Given the description of an element on the screen output the (x, y) to click on. 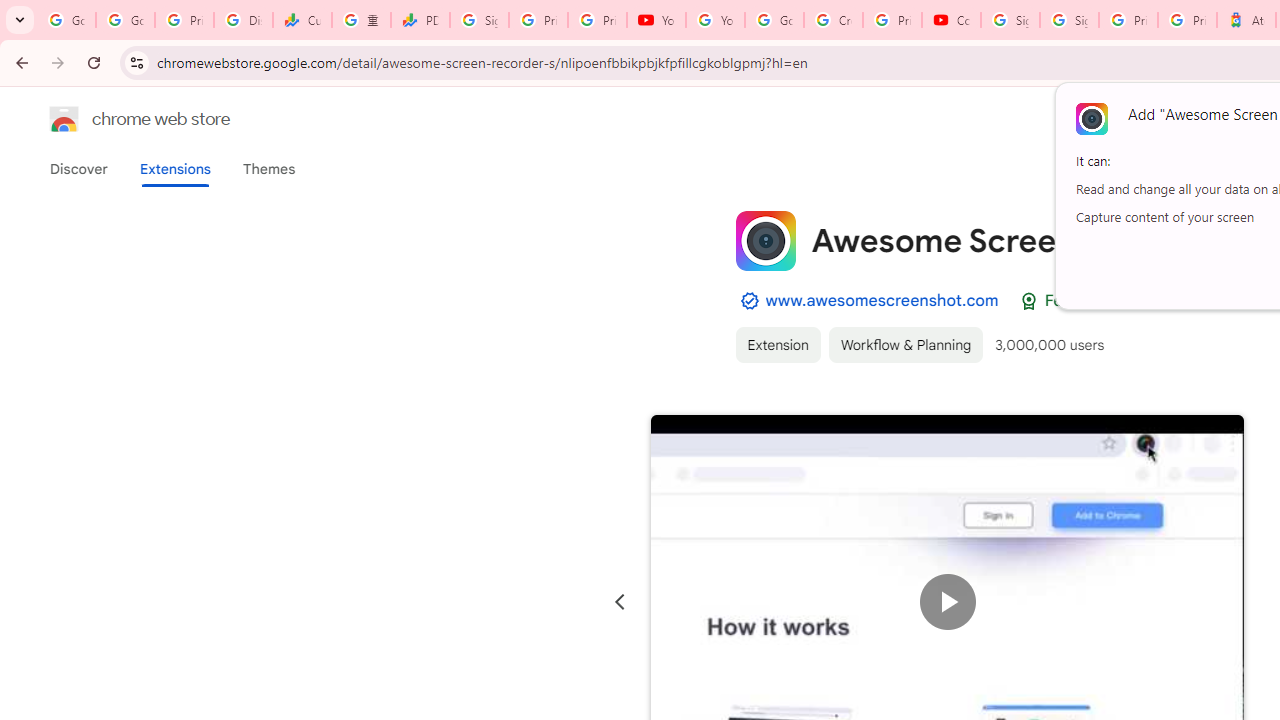
Workflow & Planning (906, 344)
Extension (777, 344)
Chrome Web Store logo (63, 118)
Create your Google Account (832, 20)
Sign in - Google Accounts (1069, 20)
Content Creator Programs & Opportunities - YouTube Creators (950, 20)
